Given the description of an element on the screen output the (x, y) to click on. 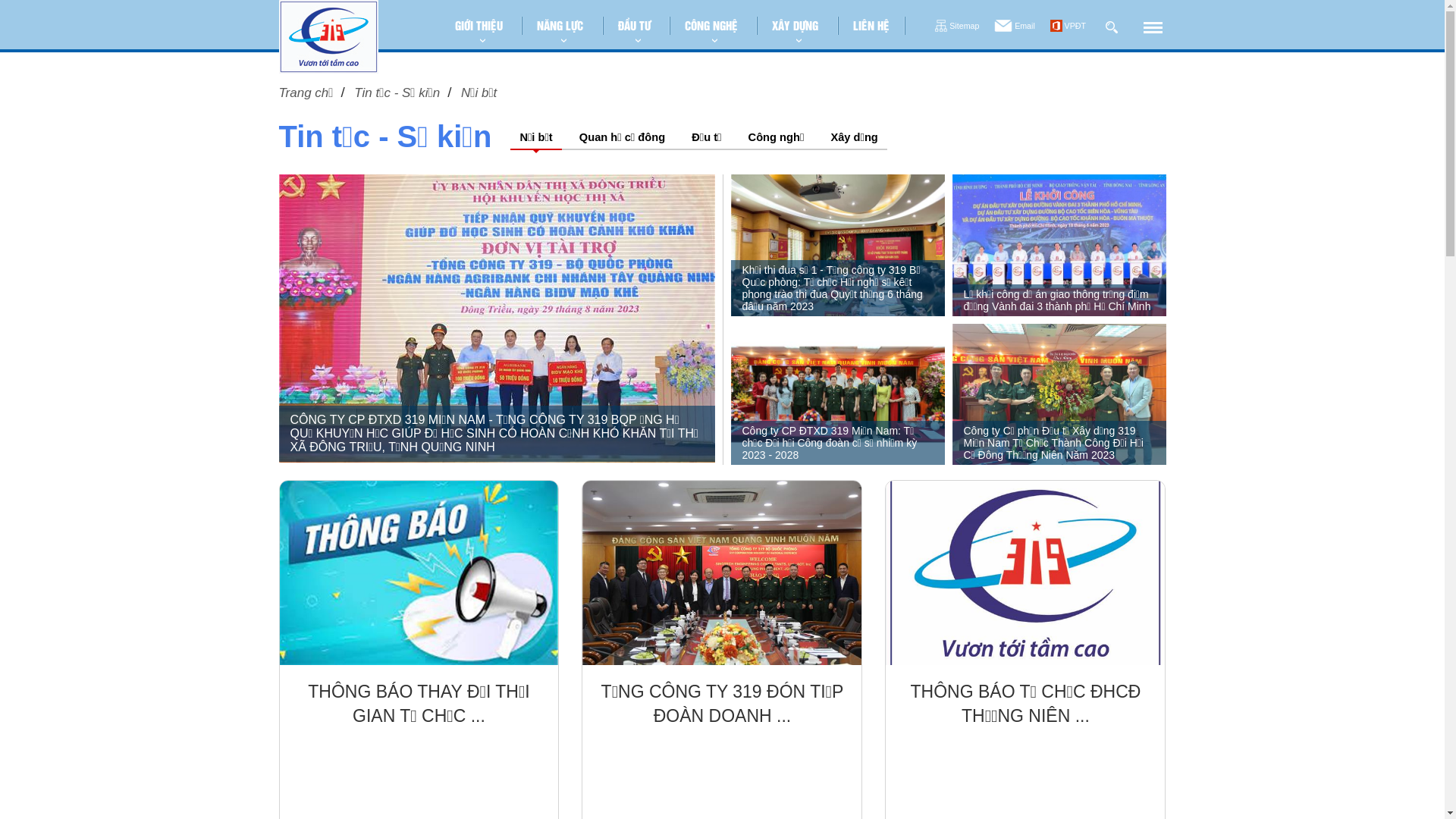
Email Element type: text (1014, 26)
Sitemap Element type: text (957, 26)
